Given the description of an element on the screen output the (x, y) to click on. 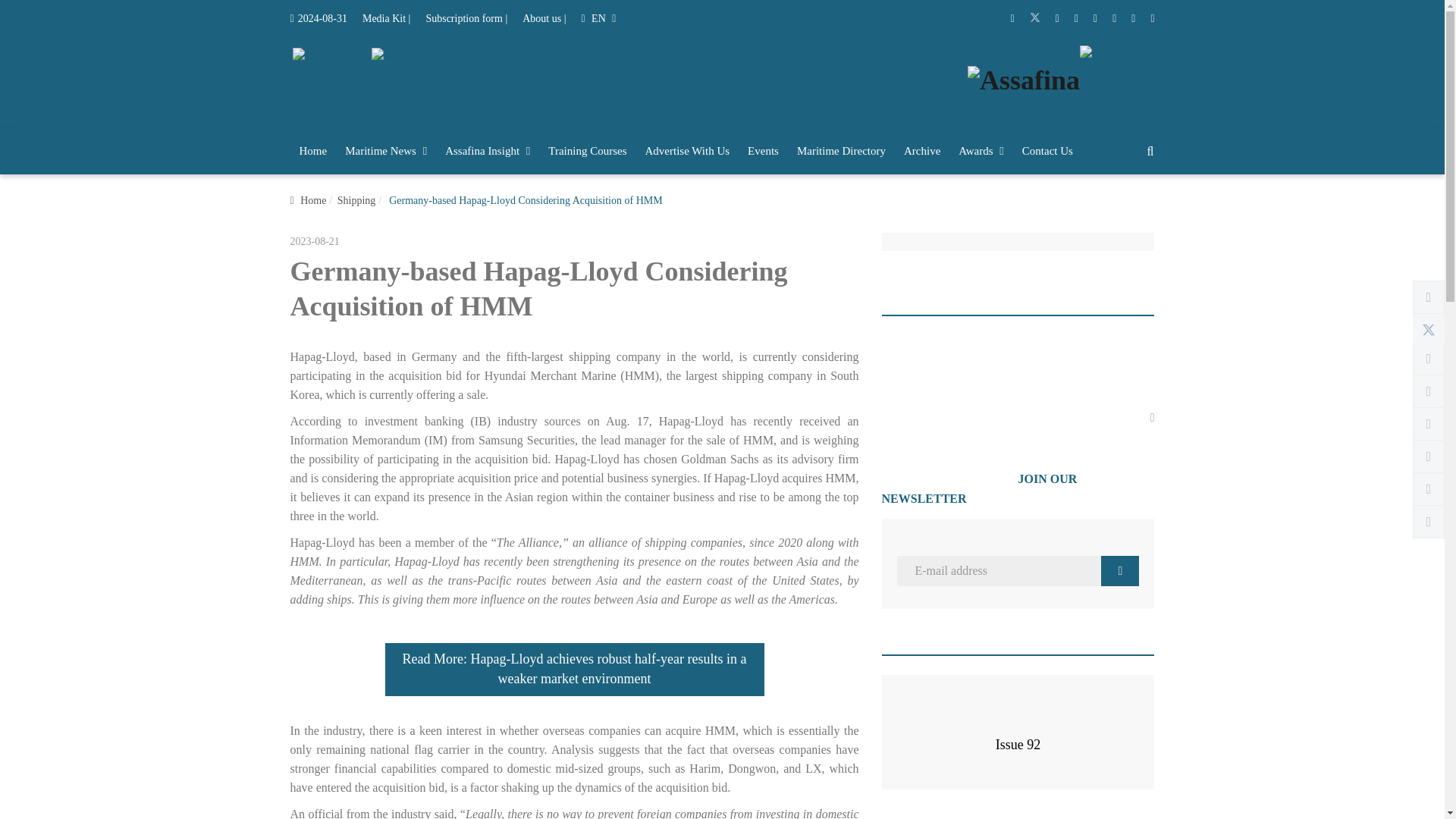
EN (597, 18)
Maritime News (385, 151)
Home (312, 151)
